Given the description of an element on the screen output the (x, y) to click on. 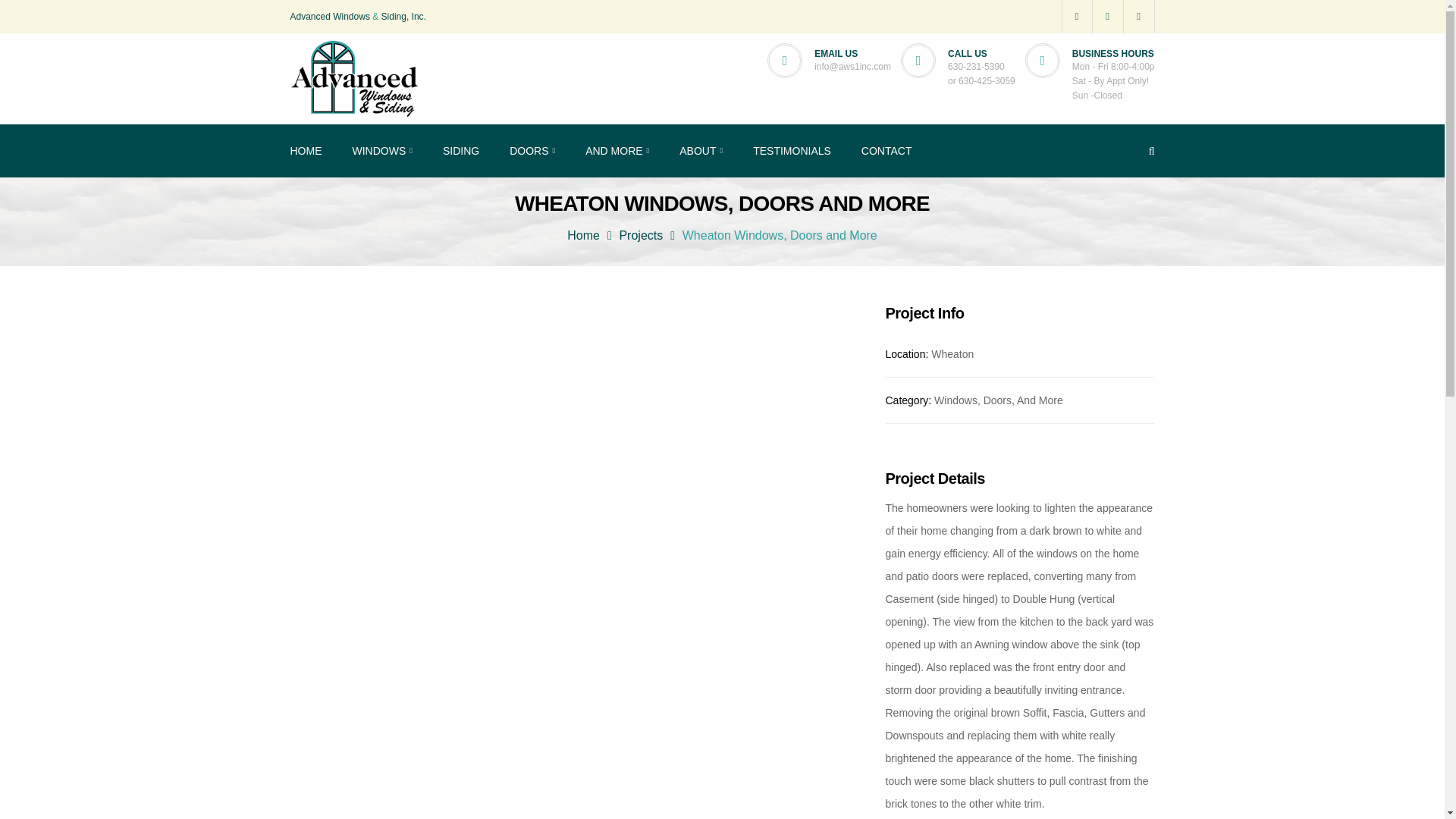
Instagram (1139, 16)
AND MORE (617, 150)
TESTIMONIALS (791, 150)
ABOUT (700, 150)
WINDOWS (382, 150)
HOME (305, 150)
DOORS (531, 150)
Projects (640, 235)
SIDING (460, 150)
Facebook (1107, 16)
